Given the description of an element on the screen output the (x, y) to click on. 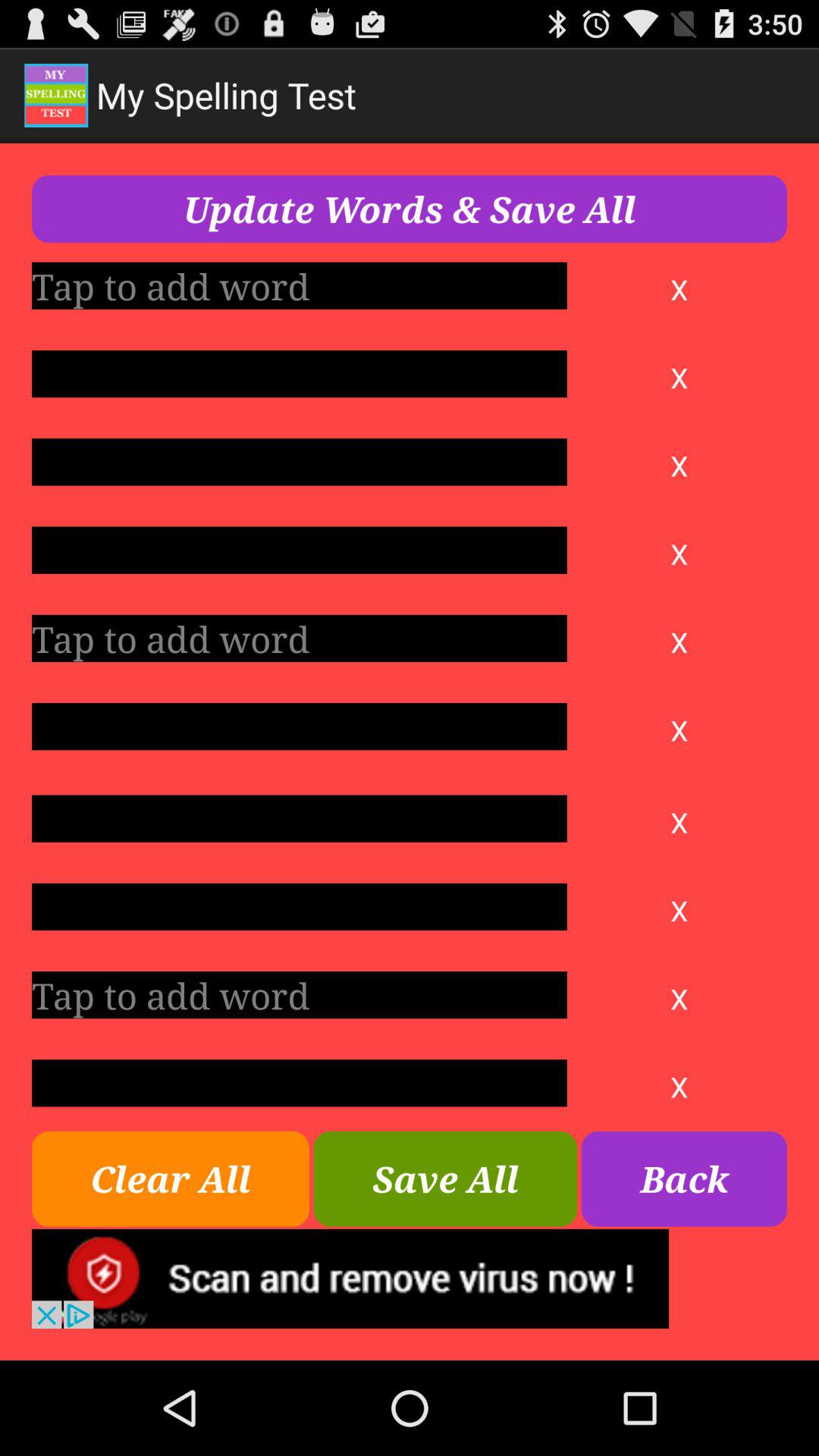
go to play (299, 373)
